Given the description of an element on the screen output the (x, y) to click on. 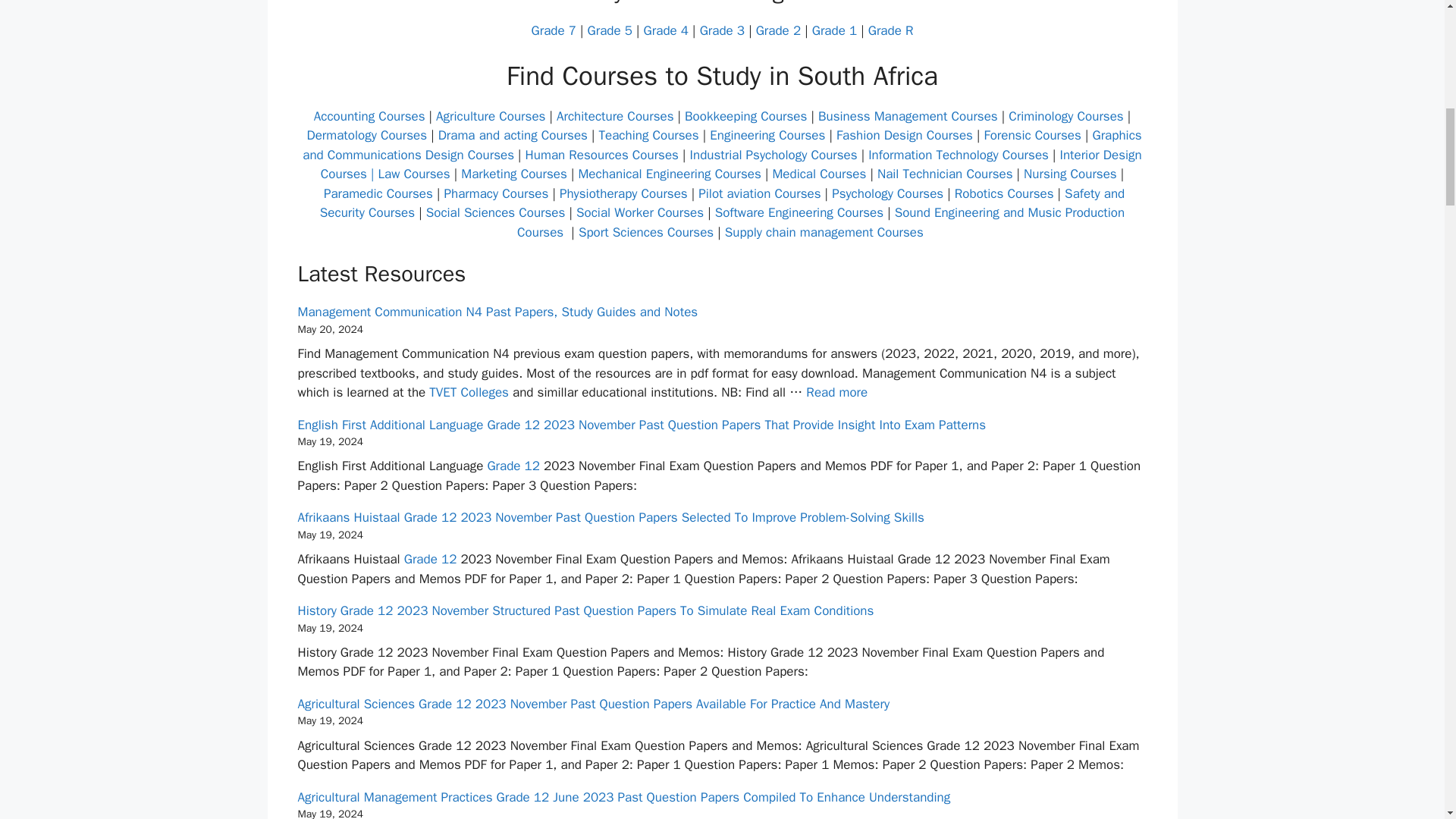
Grade 12 Study Resources (513, 465)
Grade 12 Study Resources (430, 559)
TVET Colleges (468, 392)
